Given the description of an element on the screen output the (x, y) to click on. 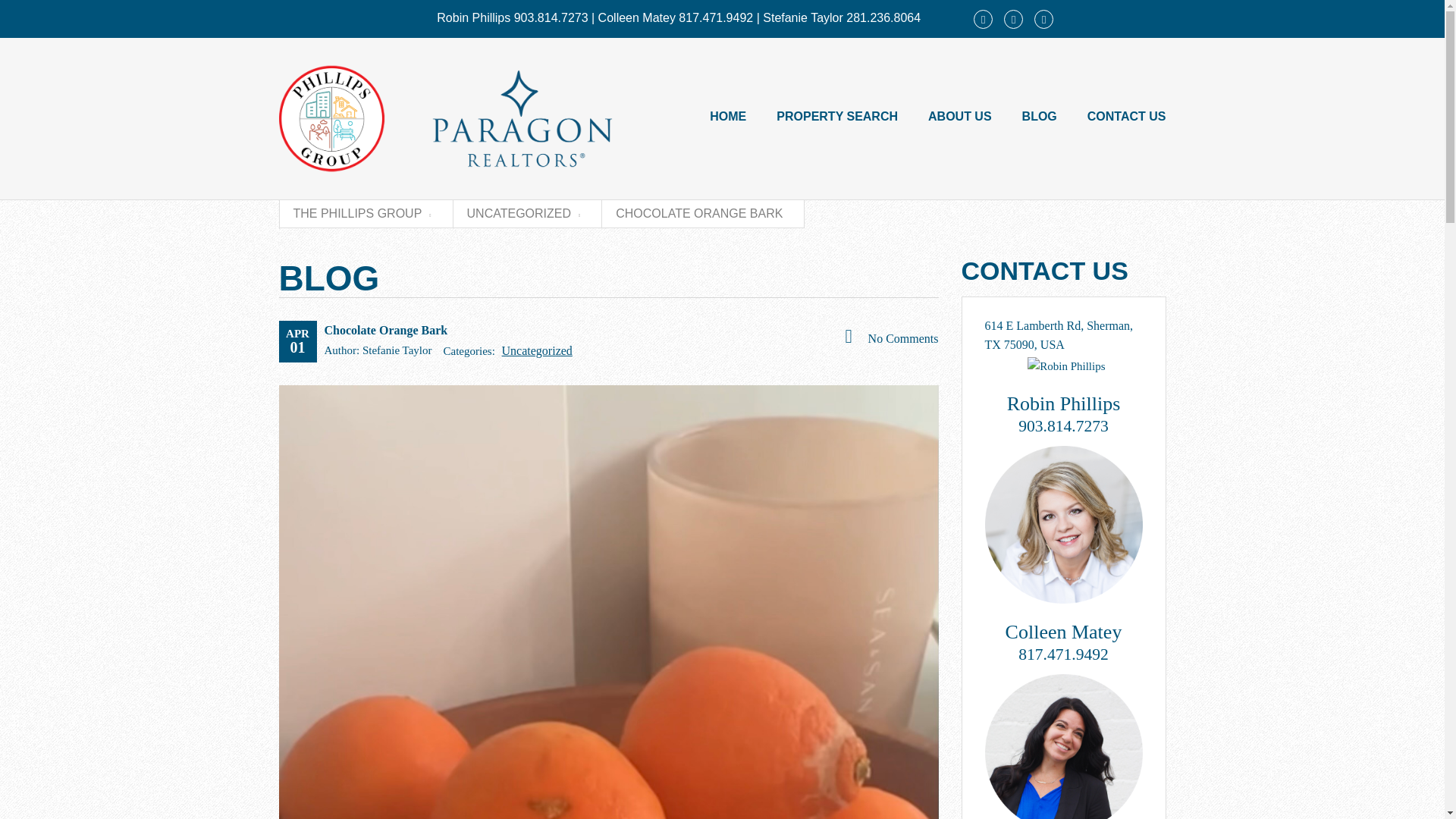
903.814.7273 (1062, 425)
No Comments (890, 337)
The Phillips Group (468, 118)
Go to The Phillips Group. (361, 213)
THE PHILLIPS GROUP (361, 213)
Uncategorized (537, 350)
817.471.9492 (1062, 654)
UNCATEGORIZED (523, 213)
PROPERTY SEARCH (837, 116)
Go to the Uncategorized Category archives. (523, 213)
Chocolate Orange Bark (386, 329)
HOME (727, 116)
BLOG (1039, 116)
CONTACT US (1126, 116)
ABOUT US (959, 116)
